Given the description of an element on the screen output the (x, y) to click on. 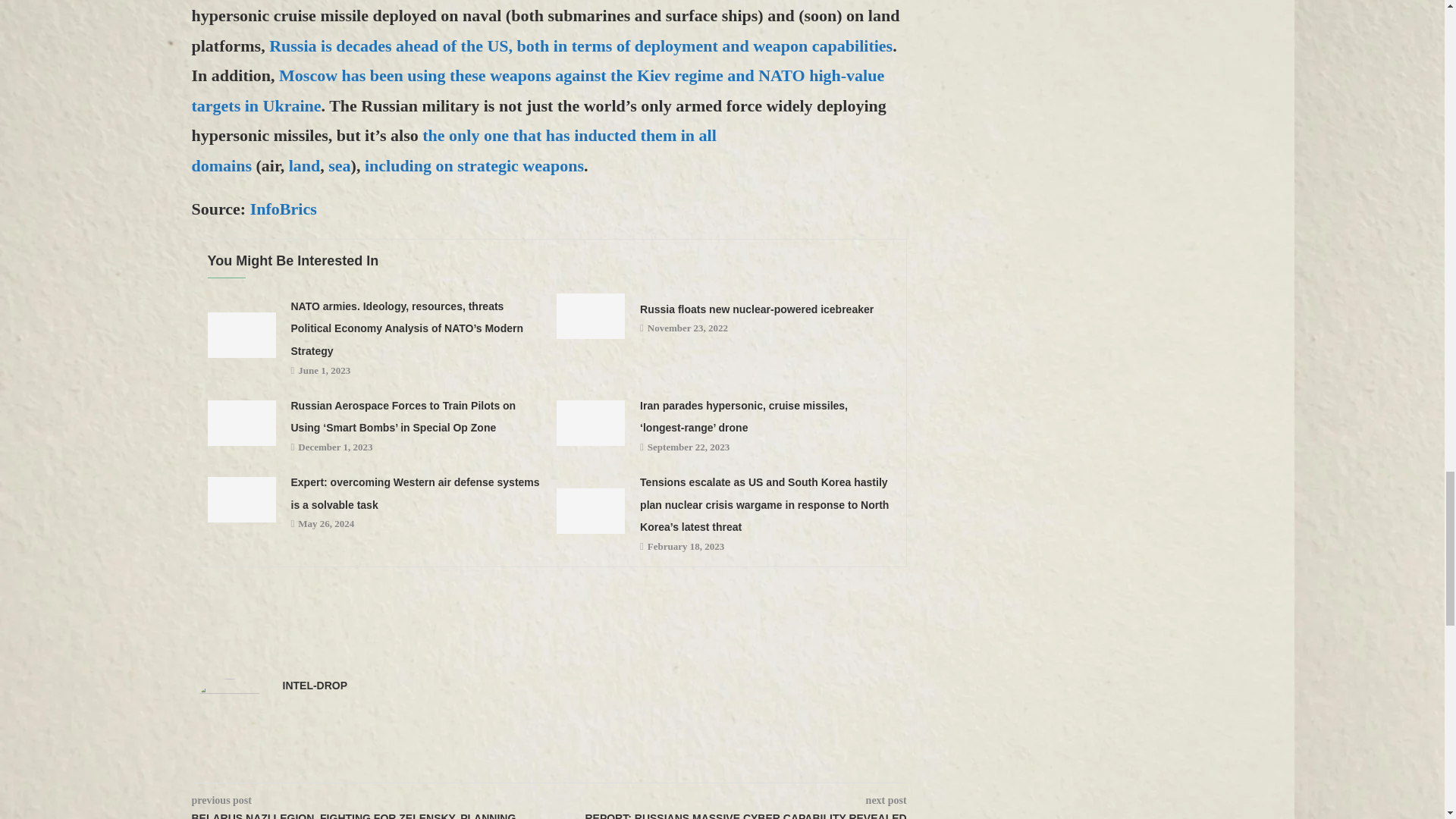
Russia floats new nuclear-powered icebreaker (590, 316)
Author INTEL-DROP (314, 685)
